Given the description of an element on the screen output the (x, y) to click on. 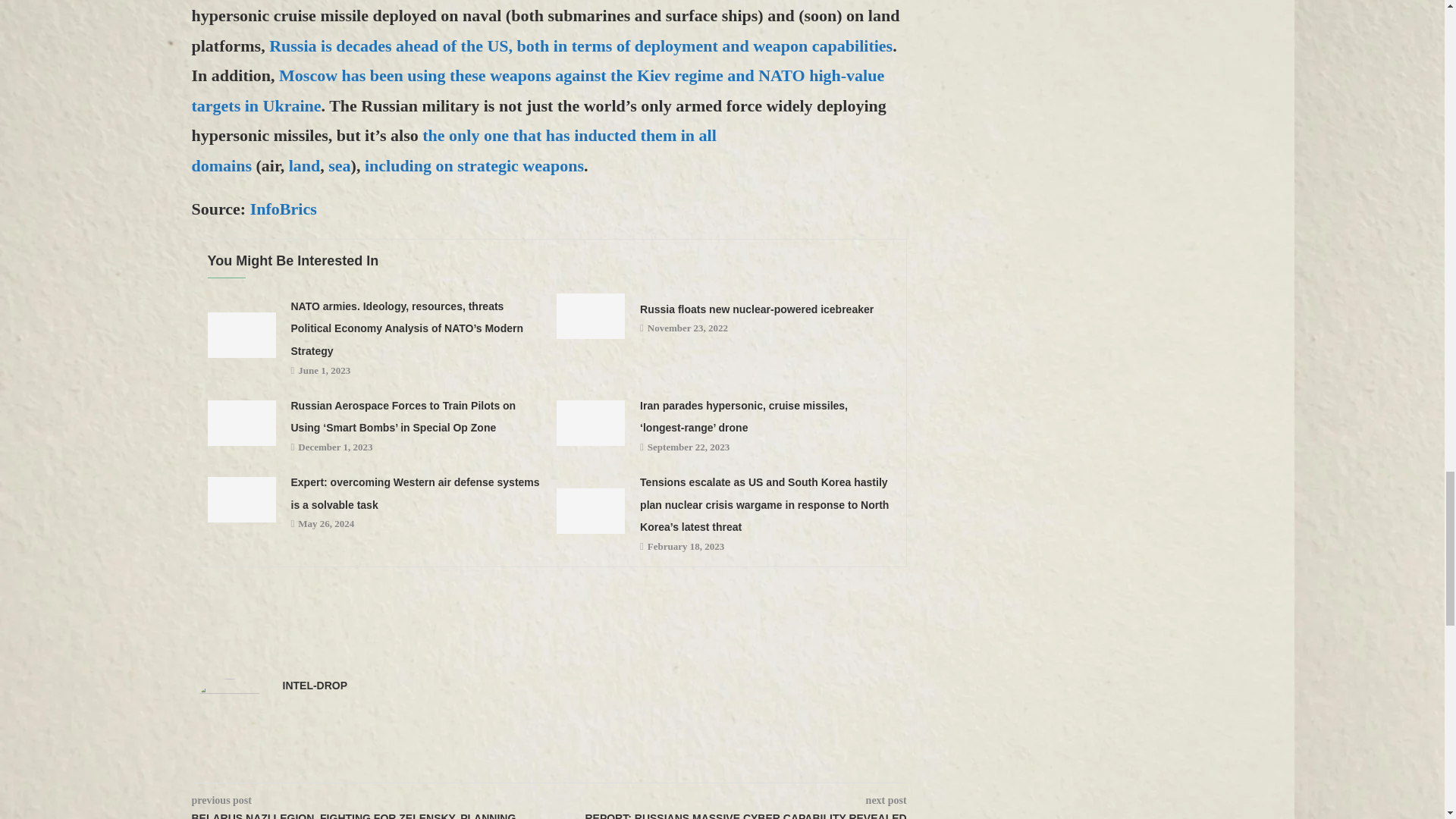
Russia floats new nuclear-powered icebreaker (590, 316)
Author INTEL-DROP (314, 685)
